Given the description of an element on the screen output the (x, y) to click on. 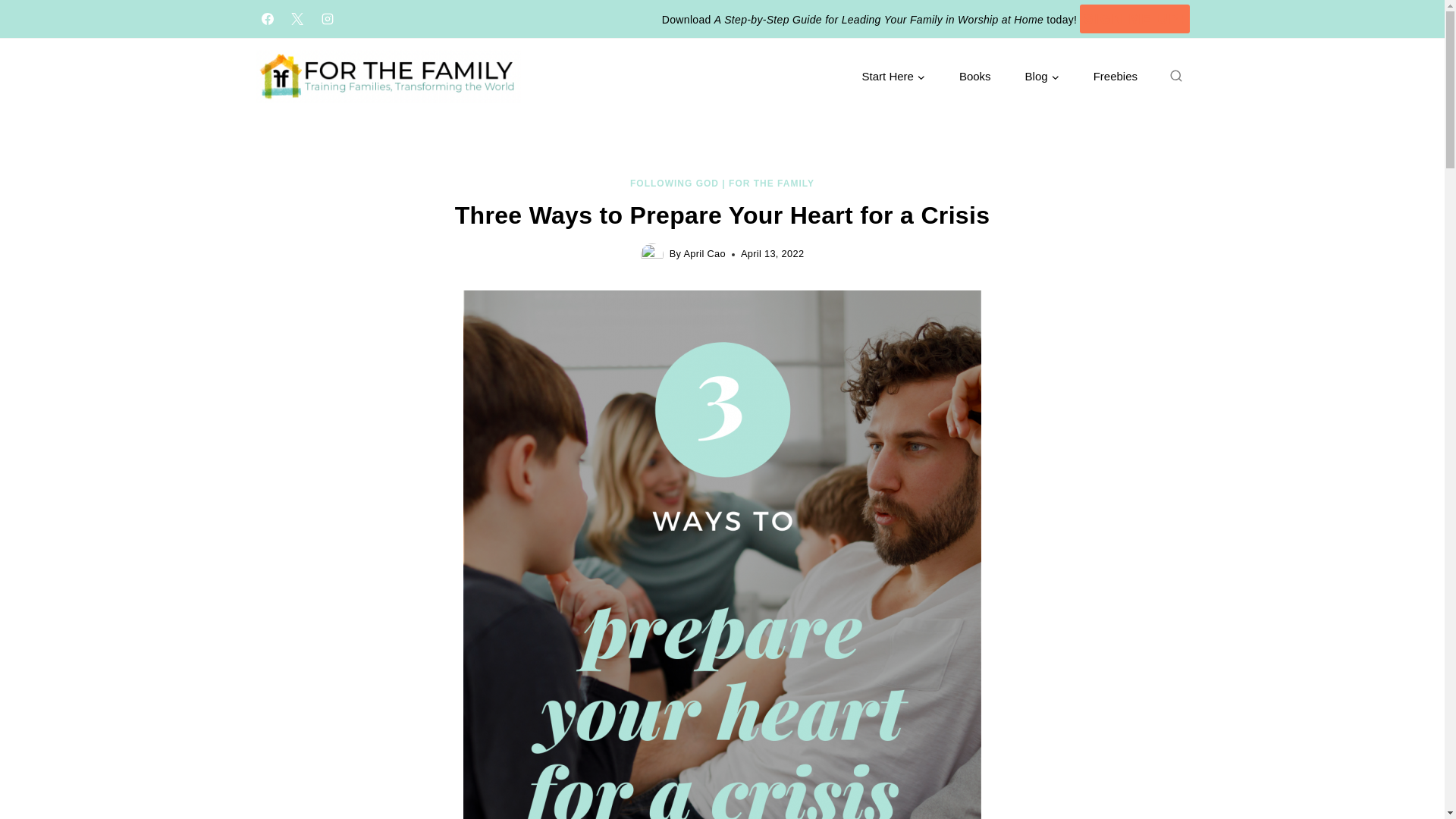
FOLLOWING GOD (674, 183)
FOR THE FAMILY (771, 183)
SIGN ME UP! (1134, 19)
Freebies (1114, 76)
Start Here (893, 76)
Blog (1041, 76)
April Cao (703, 253)
Books (974, 76)
